Given the description of an element on the screen output the (x, y) to click on. 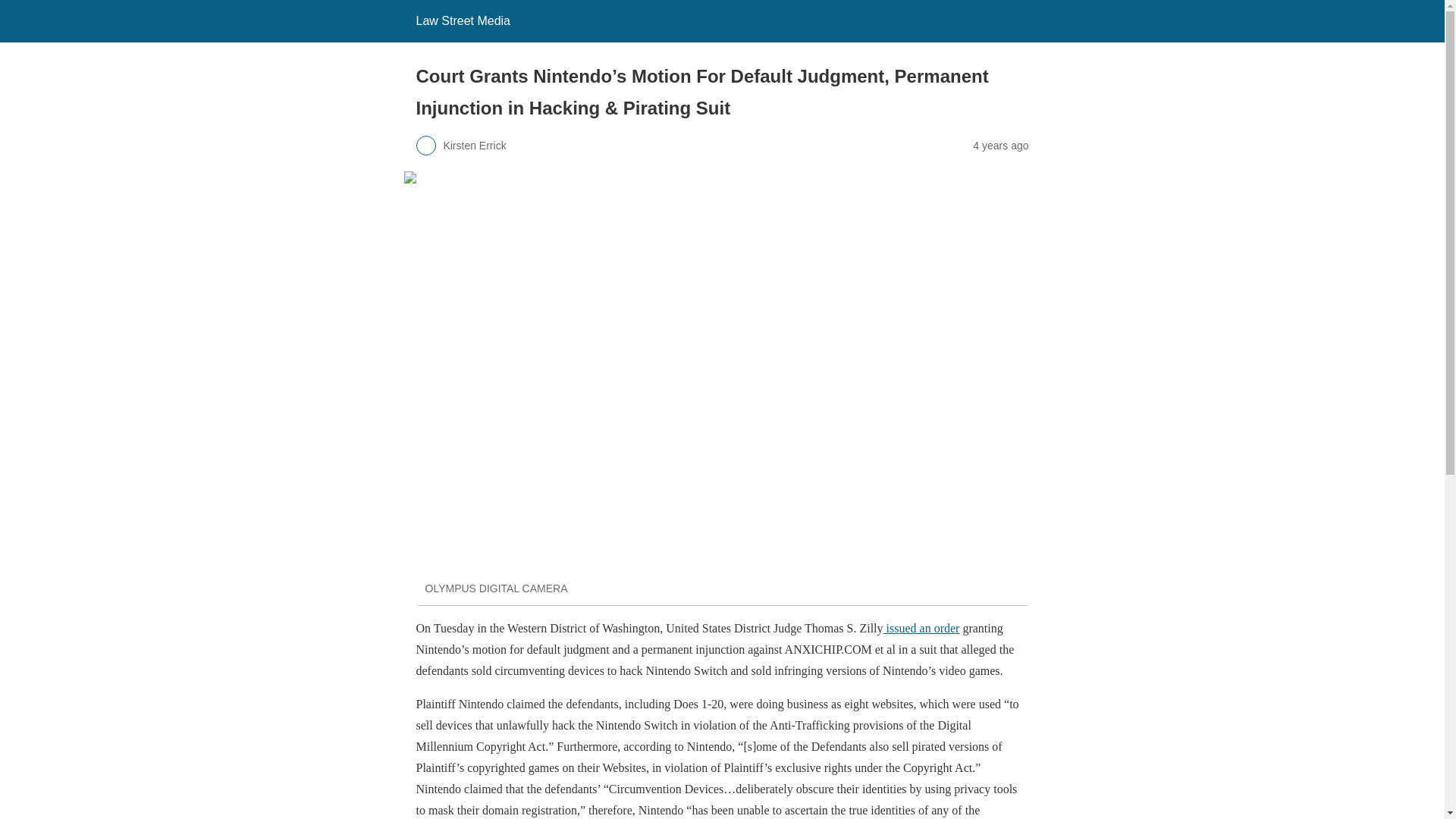
Law Street Media (462, 20)
issued an order (921, 627)
